Given the description of an element on the screen output the (x, y) to click on. 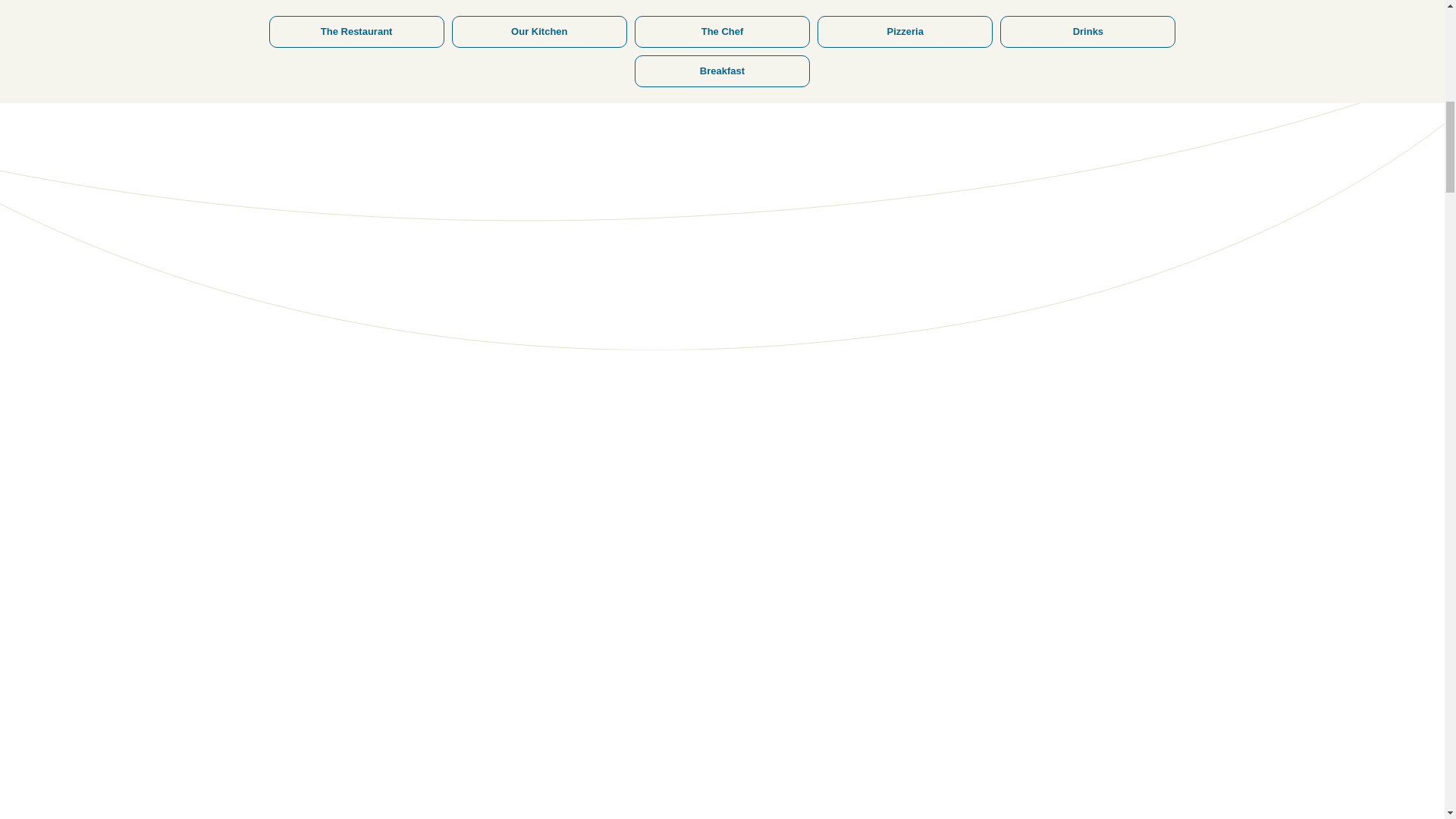
Breakfast (721, 22)
